Given the description of an element on the screen output the (x, y) to click on. 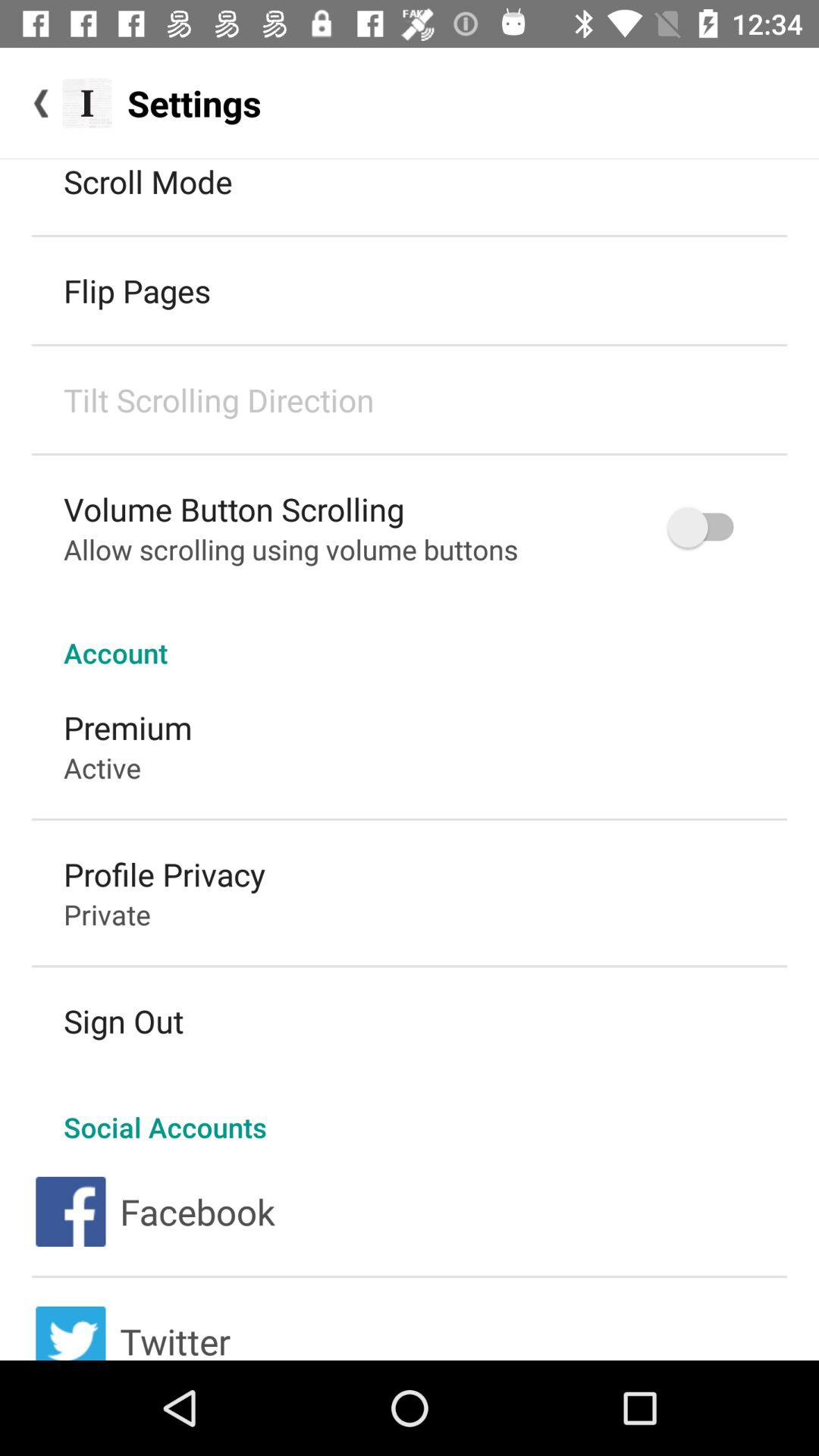
swipe to private item (106, 914)
